Given the description of an element on the screen output the (x, y) to click on. 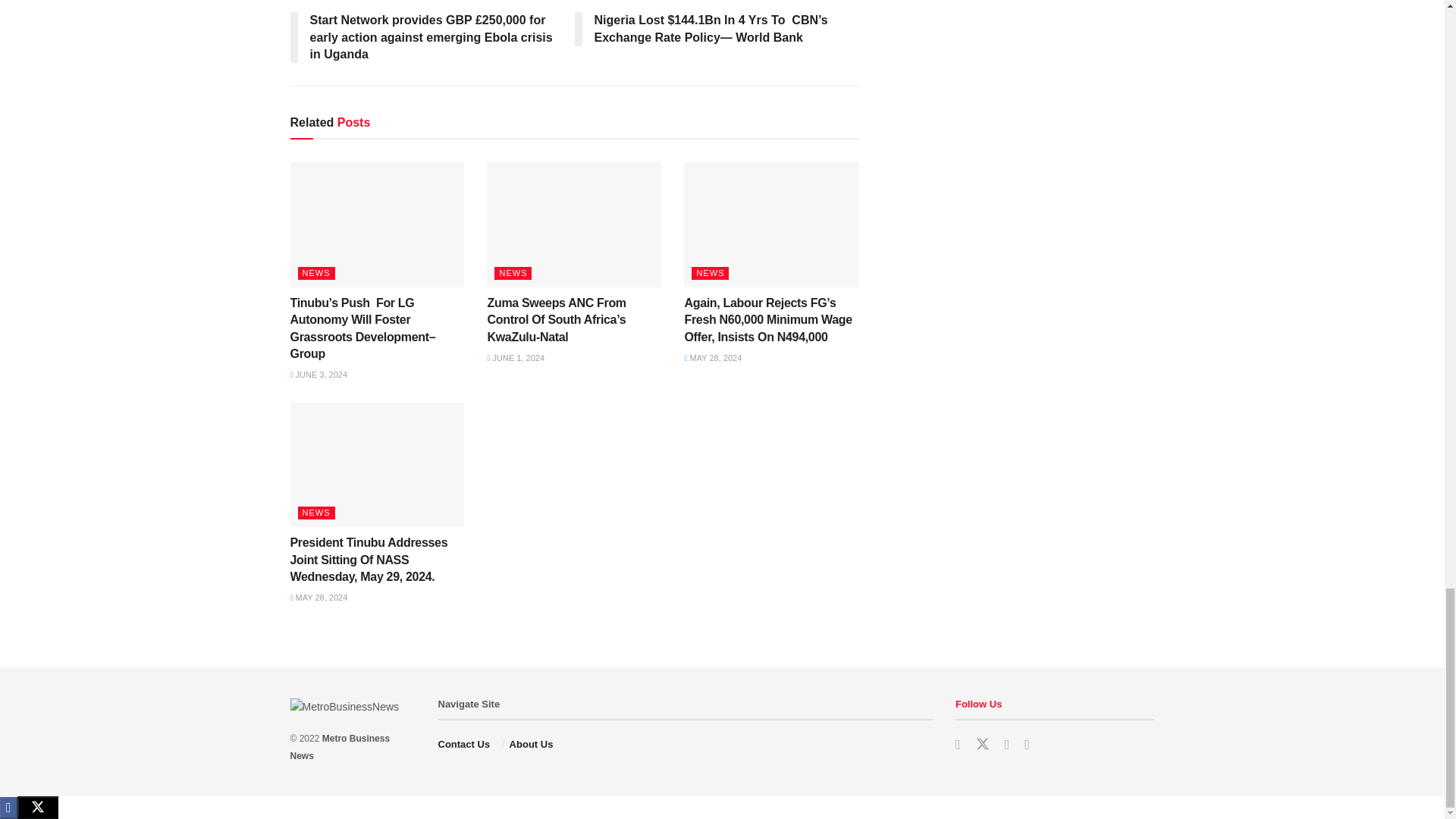
metrobusinessnews (339, 746)
metrobusinessnews (469, 704)
